Given the description of an element on the screen output the (x, y) to click on. 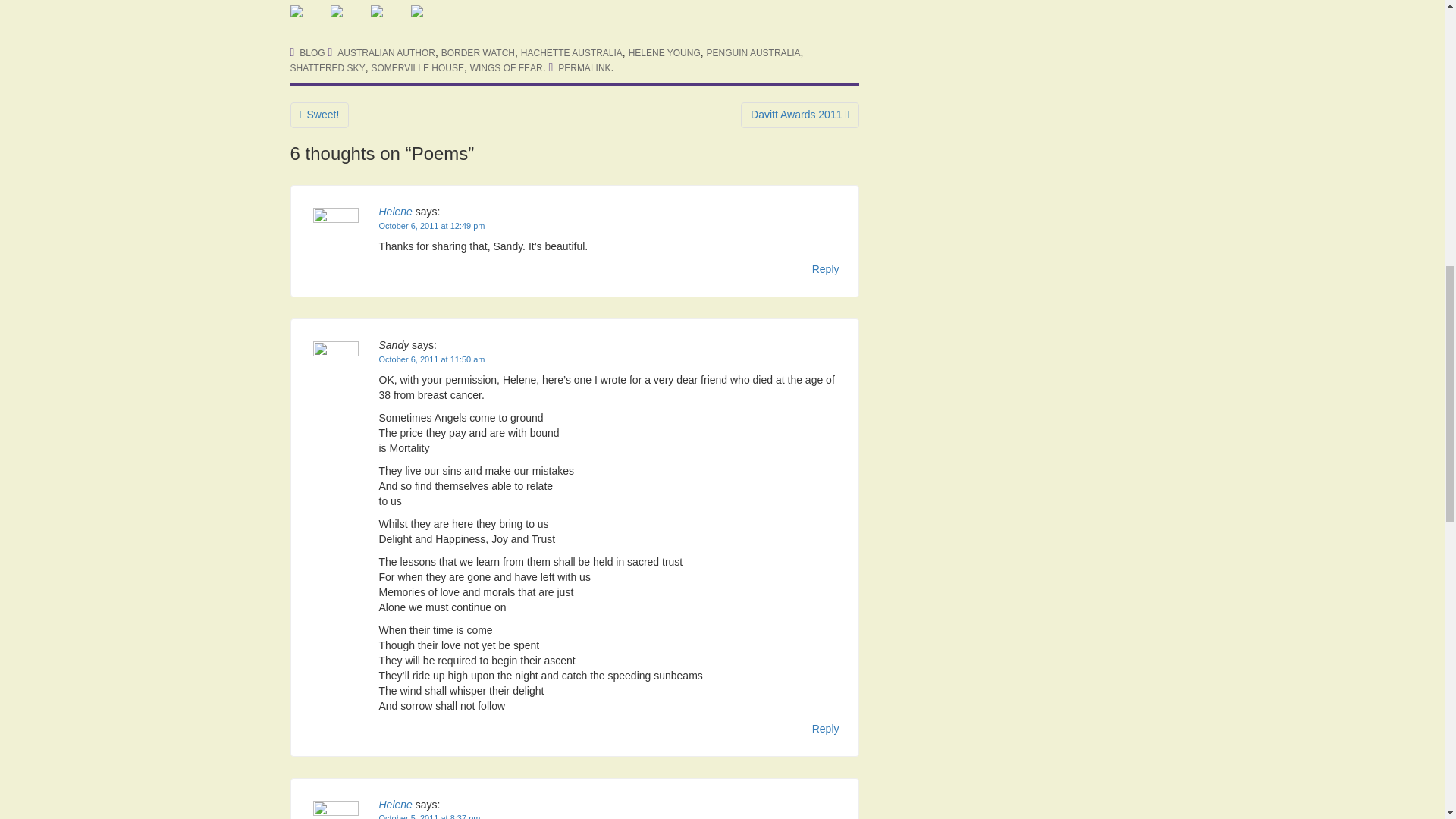
HELENE YOUNG (664, 52)
HACHETTE AUSTRALIA (572, 52)
Reply (826, 729)
Davitt Awards 2011 (800, 114)
SOMERVILLE HOUSE (417, 68)
October 6, 2011 at 11:50 am (431, 358)
Sweet! (319, 114)
Pin it with Pinterest (387, 22)
AUSTRALIAN AUTHOR (386, 52)
Helene (395, 211)
PENGUIN AUSTRALIA (753, 52)
October 6, 2011 at 12:49 pm (431, 225)
Share on Facebook (295, 10)
PERMALINK (583, 68)
SHATTERED SKY (327, 68)
